Given the description of an element on the screen output the (x, y) to click on. 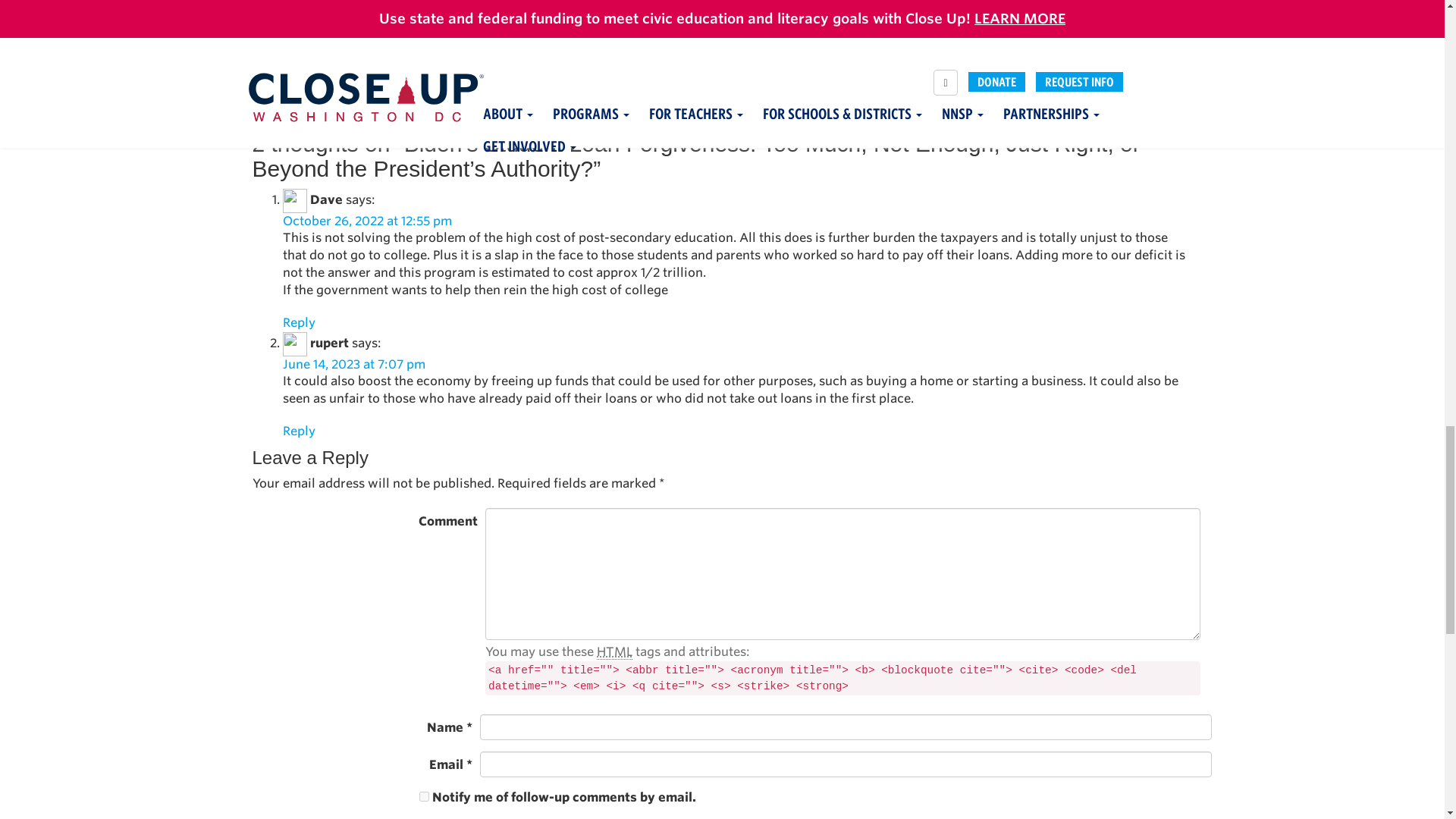
HyperText Markup Language (613, 652)
subscribe (423, 796)
